Given the description of an element on the screen output the (x, y) to click on. 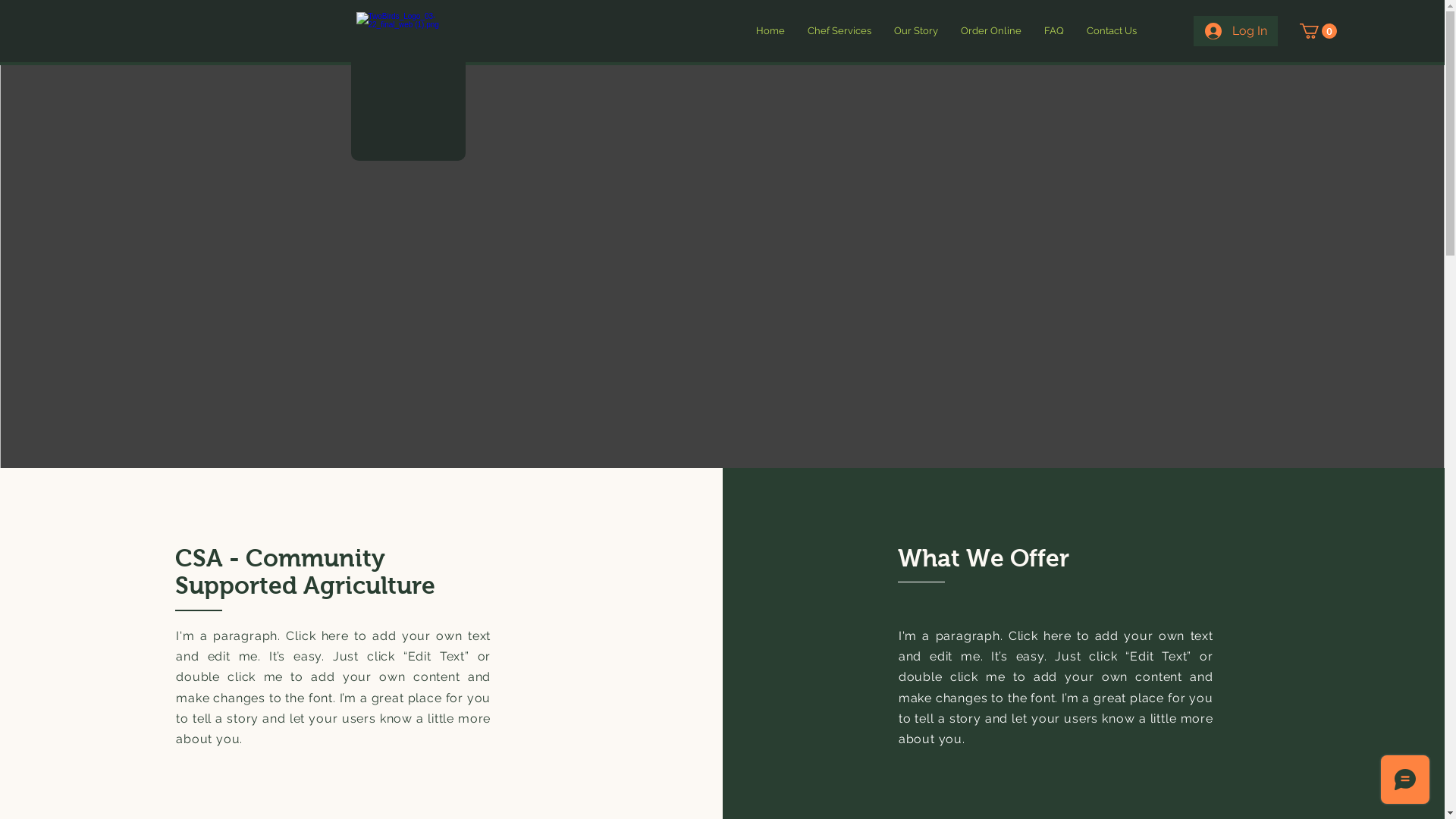
Log In Element type: text (1235, 30)
Our Story Element type: text (915, 31)
Order Online Element type: text (990, 31)
Home Element type: text (770, 31)
Contact Us Element type: text (1111, 31)
0 Element type: text (1317, 30)
FAQ Element type: text (1053, 31)
Chef Services Element type: text (839, 31)
